Given the description of an element on the screen output the (x, y) to click on. 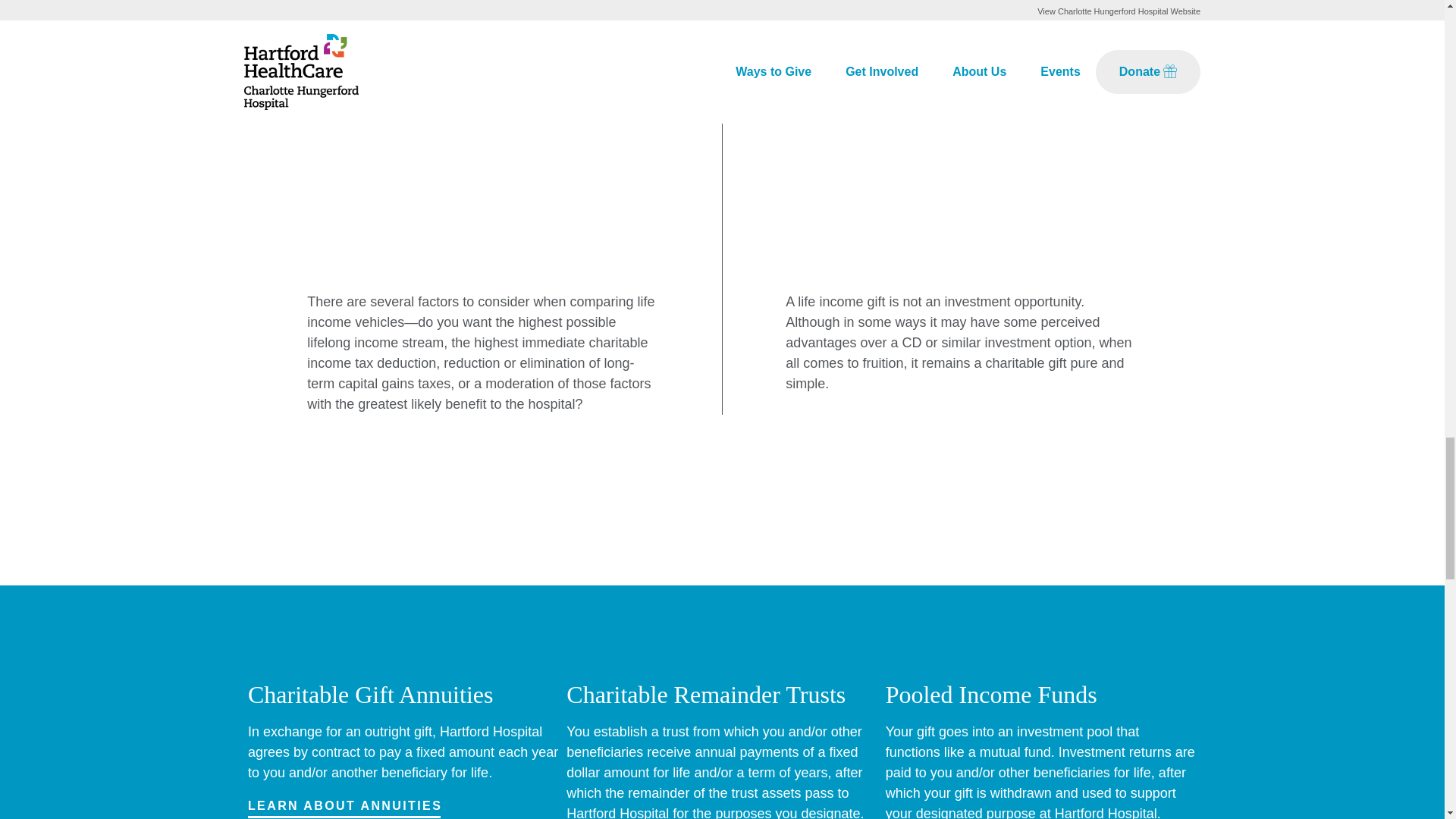
LEARN ABOUT ANNUITIES (344, 805)
